Given the description of an element on the screen output the (x, y) to click on. 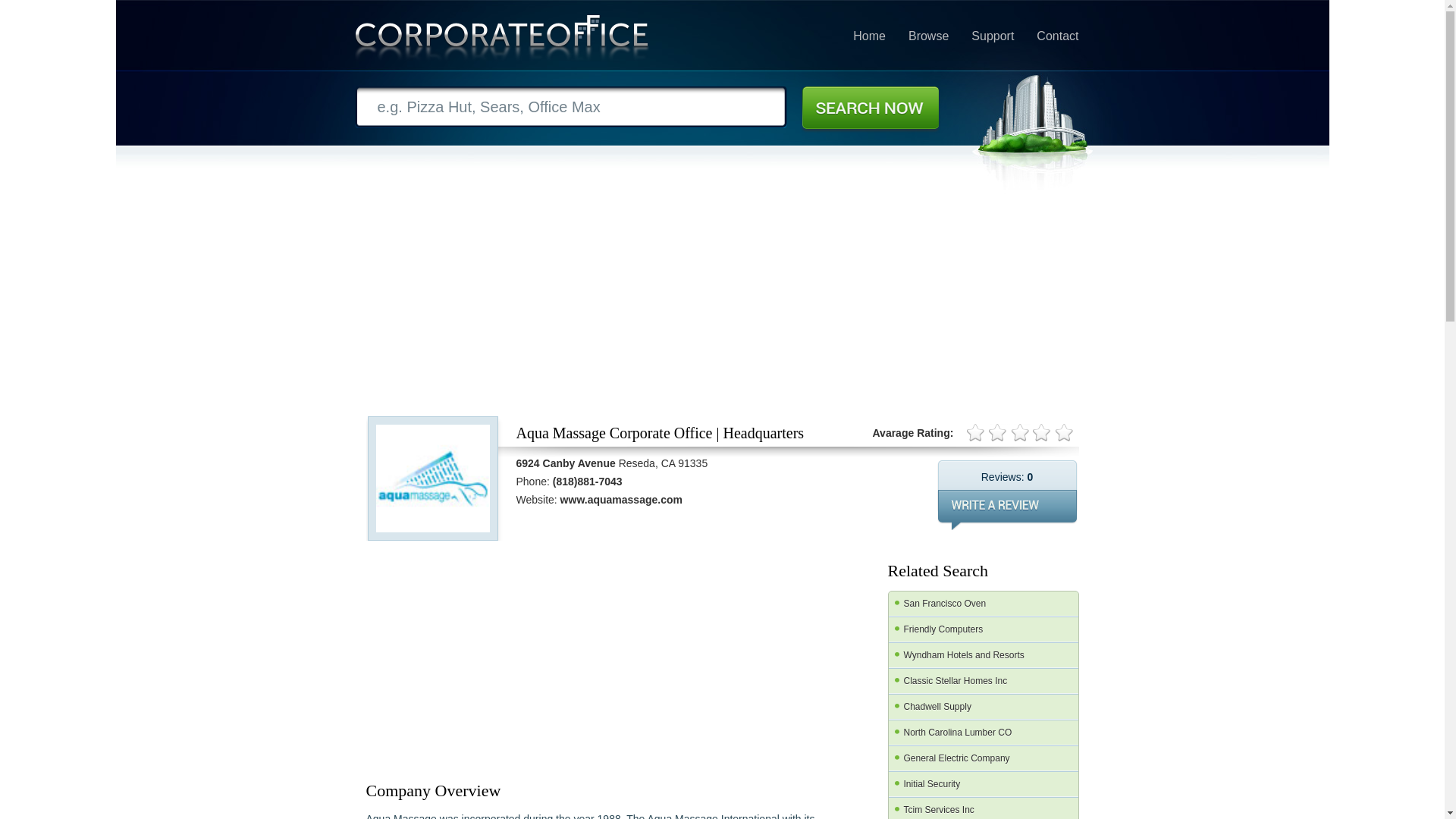
North Carolina Lumber CO (983, 732)
Wyndham Hotels and Resorts (983, 655)
Initial Security (983, 784)
Home (868, 36)
Advertisement (478, 657)
Chadwell Supply (983, 706)
General Electric Company (983, 758)
Advertisement (724, 657)
Browse (927, 36)
Contact (1057, 36)
San Francisco Oven (983, 603)
Classic Stellar Homes Inc (983, 681)
e.g. Pizza Hut, Sears, Office Max (571, 106)
Tcim Services Inc (983, 808)
